Given the description of an element on the screen output the (x, y) to click on. 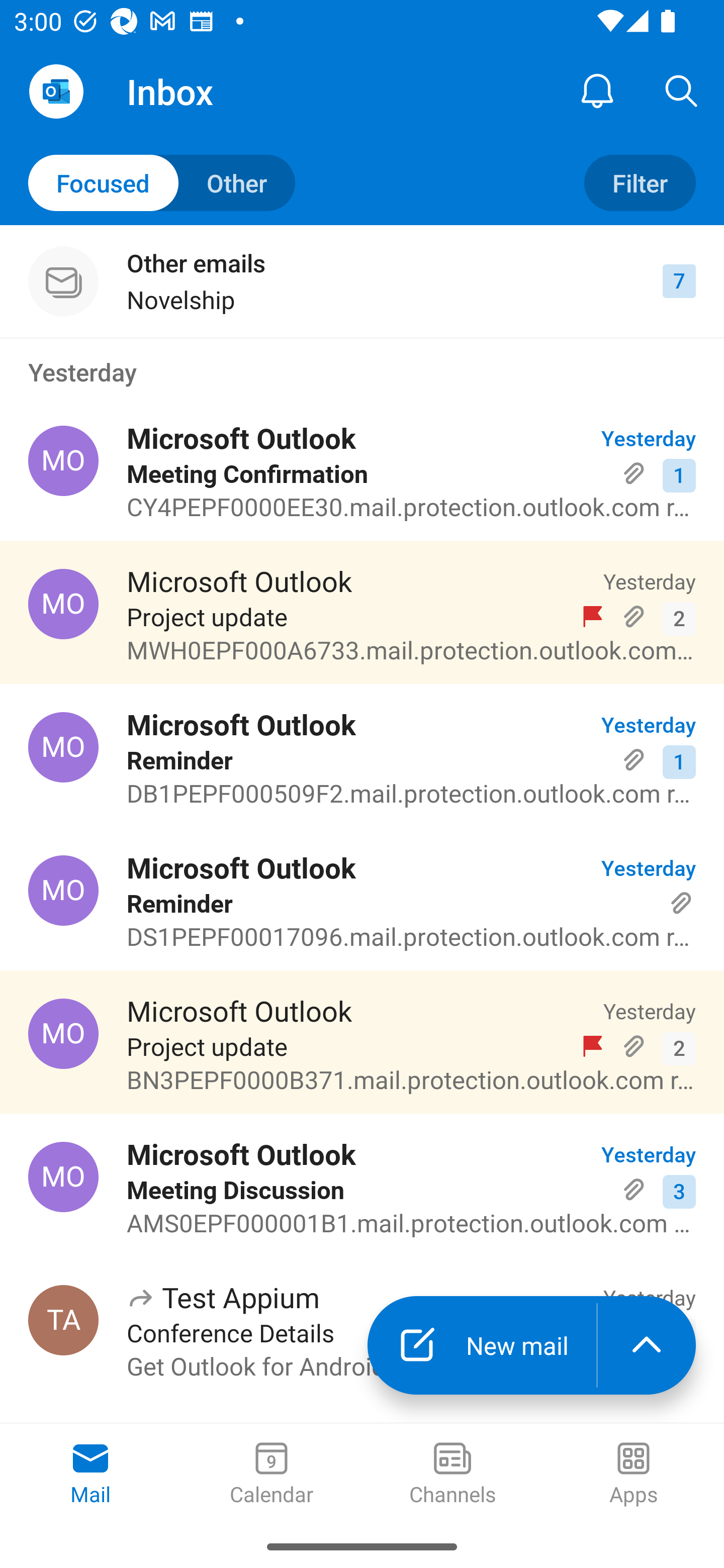
Notification Center (597, 90)
Search, ,  (681, 90)
Open Navigation Drawer (55, 91)
Toggle to other mails (161, 183)
Filter (639, 183)
Other emails Novelship 7 (362, 281)
Test Appium, testappium002@outlook.com (63, 1319)
New mail (481, 1344)
launch the extended action menu (646, 1344)
Calendar (271, 1474)
Channels (452, 1474)
Apps (633, 1474)
